Given the description of an element on the screen output the (x, y) to click on. 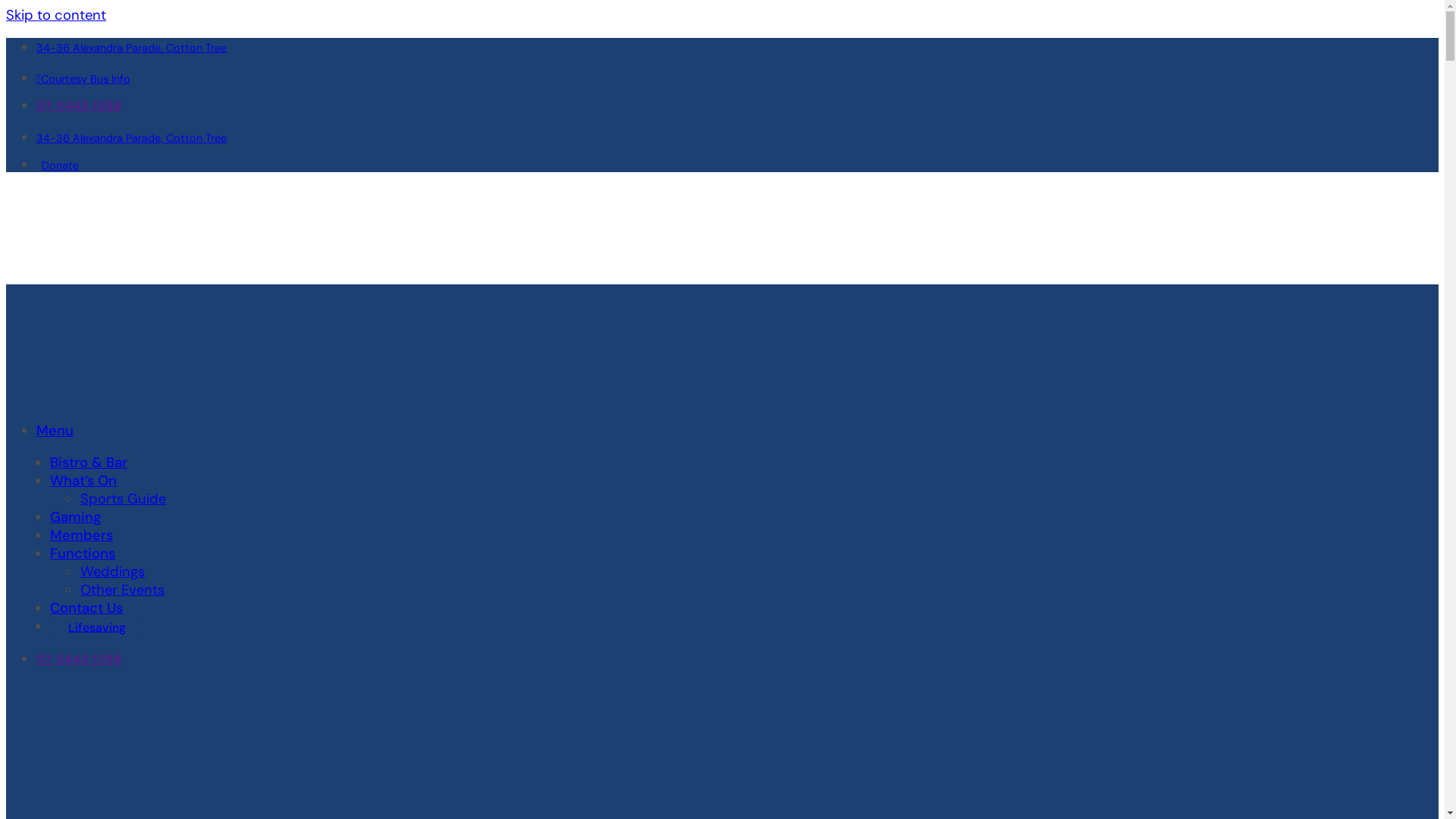
Lifesaving Element type: text (97, 628)
Weddings Element type: text (112, 571)
Members Element type: text (81, 535)
Functions Element type: text (82, 553)
34-36 Alexandra Parade, Cotton Tree Element type: text (131, 47)
Maroochy Surf Club Element type: hover (195, 342)
Contact Us Element type: text (86, 608)
Other Events Element type: text (122, 589)
Gaming Element type: text (75, 517)
Sports Guide Element type: text (123, 498)
07 5443 1298 Element type: text (79, 659)
Menu Element type: text (54, 430)
Courtesy Bus Info Element type: text (83, 78)
34-36 Alexandra Parade, Cotton Tree Element type: text (131, 137)
07 5443 1298 Element type: text (79, 105)
Donate Element type: text (57, 165)
Skip to content Element type: text (56, 15)
Bistro & Bar Element type: text (88, 462)
